Given the description of an element on the screen output the (x, y) to click on. 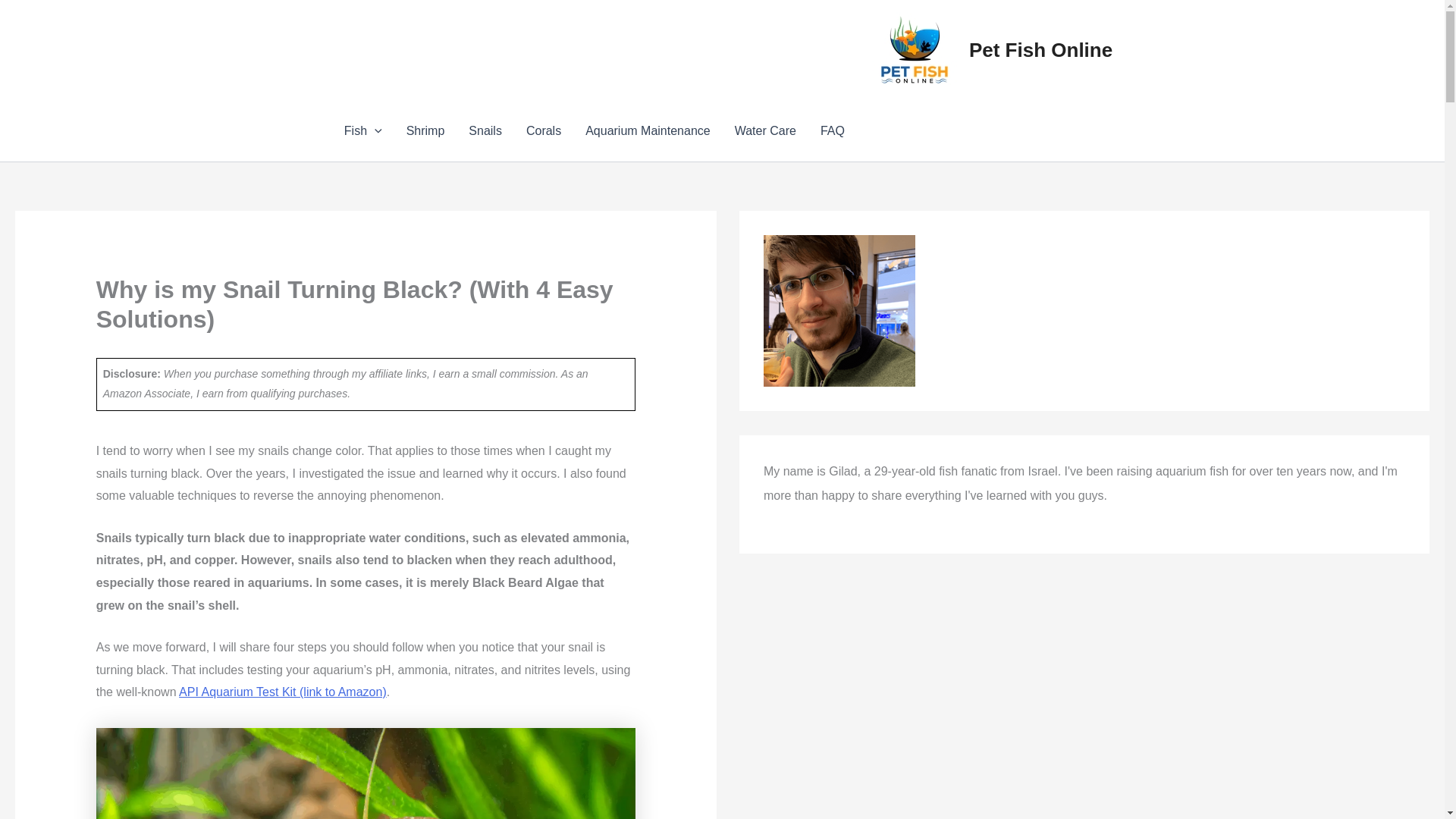
Aquarium Maintenance (647, 130)
Corals (543, 130)
Shrimp (425, 130)
Pet Fish Online (1040, 49)
Snails (485, 130)
Water Care (765, 130)
Fish (362, 130)
